Given the description of an element on the screen output the (x, y) to click on. 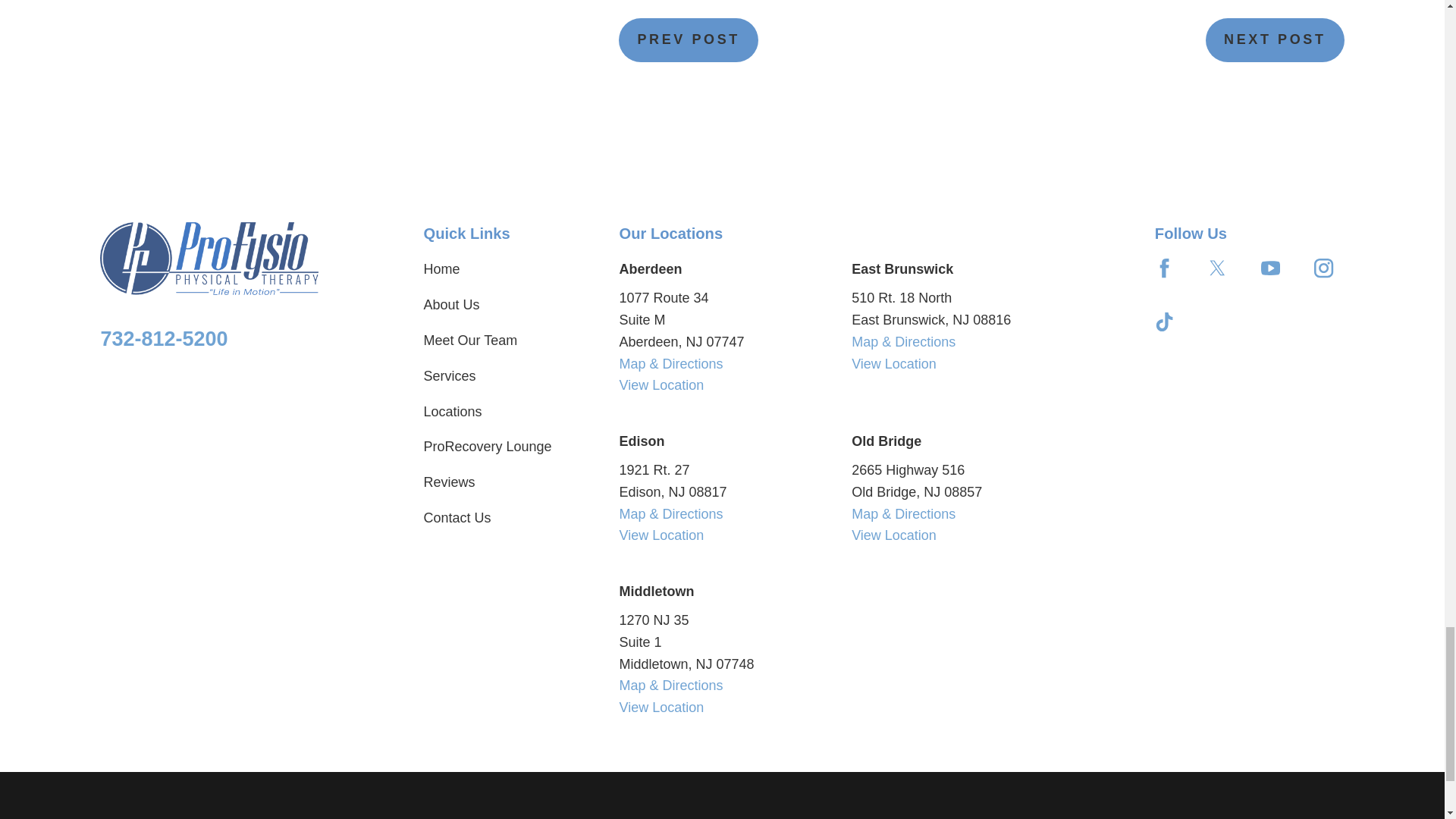
Twitter (1217, 267)
Home (209, 257)
Facebook (1163, 267)
